Given the description of an element on the screen output the (x, y) to click on. 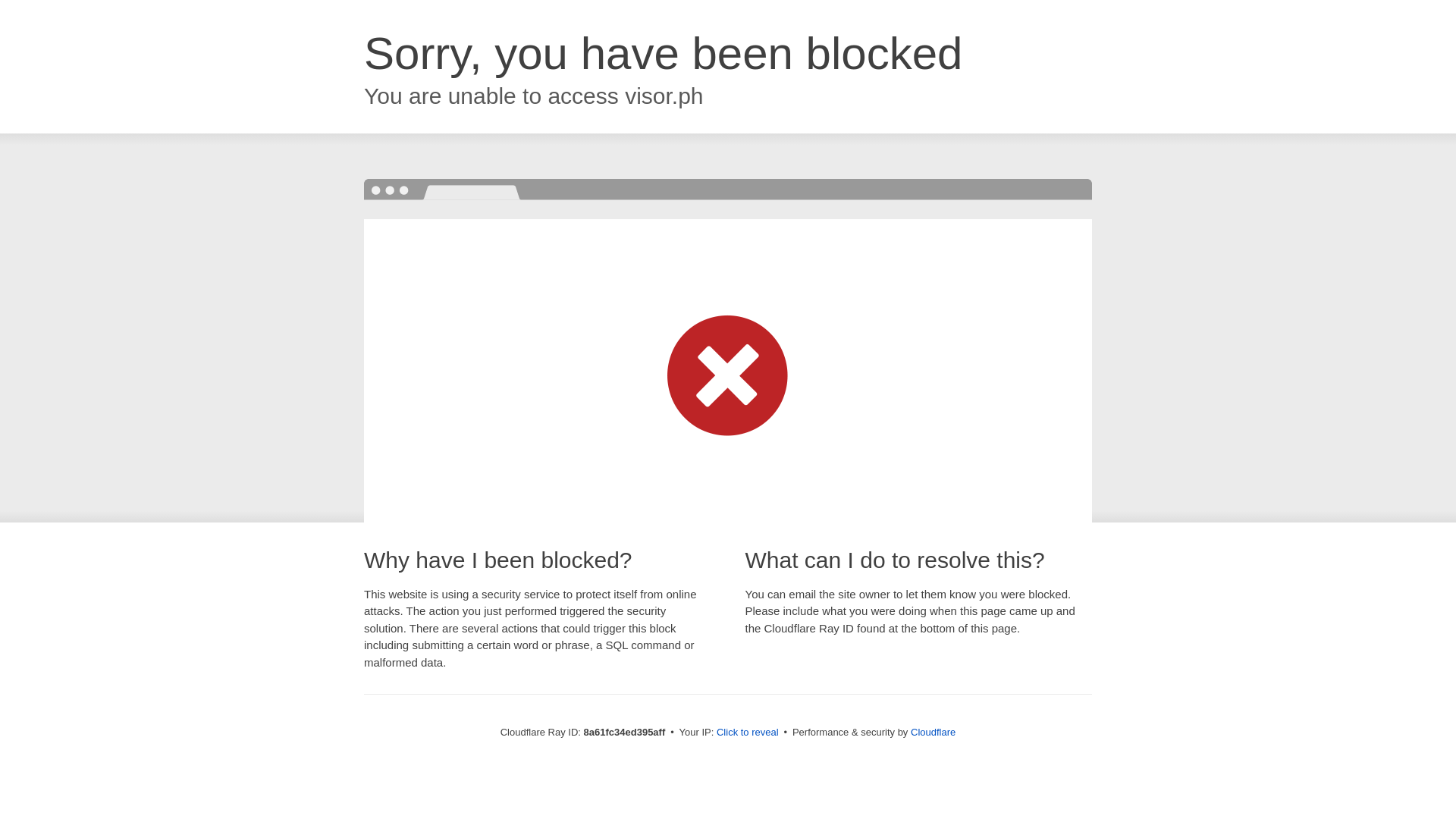
Click to reveal (747, 732)
Cloudflare (933, 731)
